Given the description of an element on the screen output the (x, y) to click on. 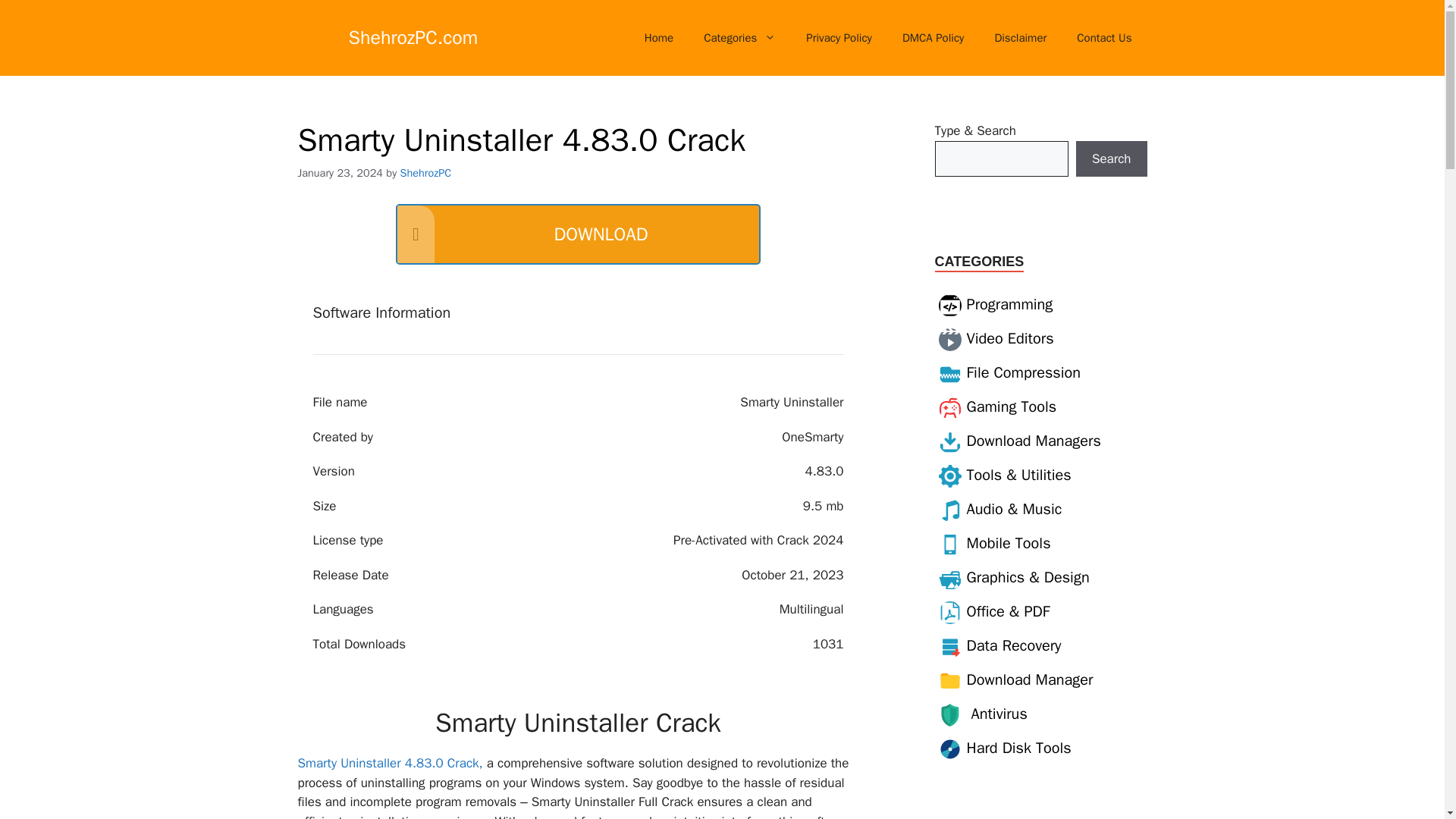
Smarty Uninstaller 4.83.0 Crack, (389, 763)
Privacy Policy (838, 37)
ShehrozPC (425, 172)
DMCA Policy (932, 37)
ShehrozPC.com (414, 37)
Home (658, 37)
Categories (739, 37)
Disclaimer (1019, 37)
View all posts by ShehrozPC (425, 172)
Contact Us (1104, 37)
DOWNLOAD (578, 233)
